Given the description of an element on the screen output the (x, y) to click on. 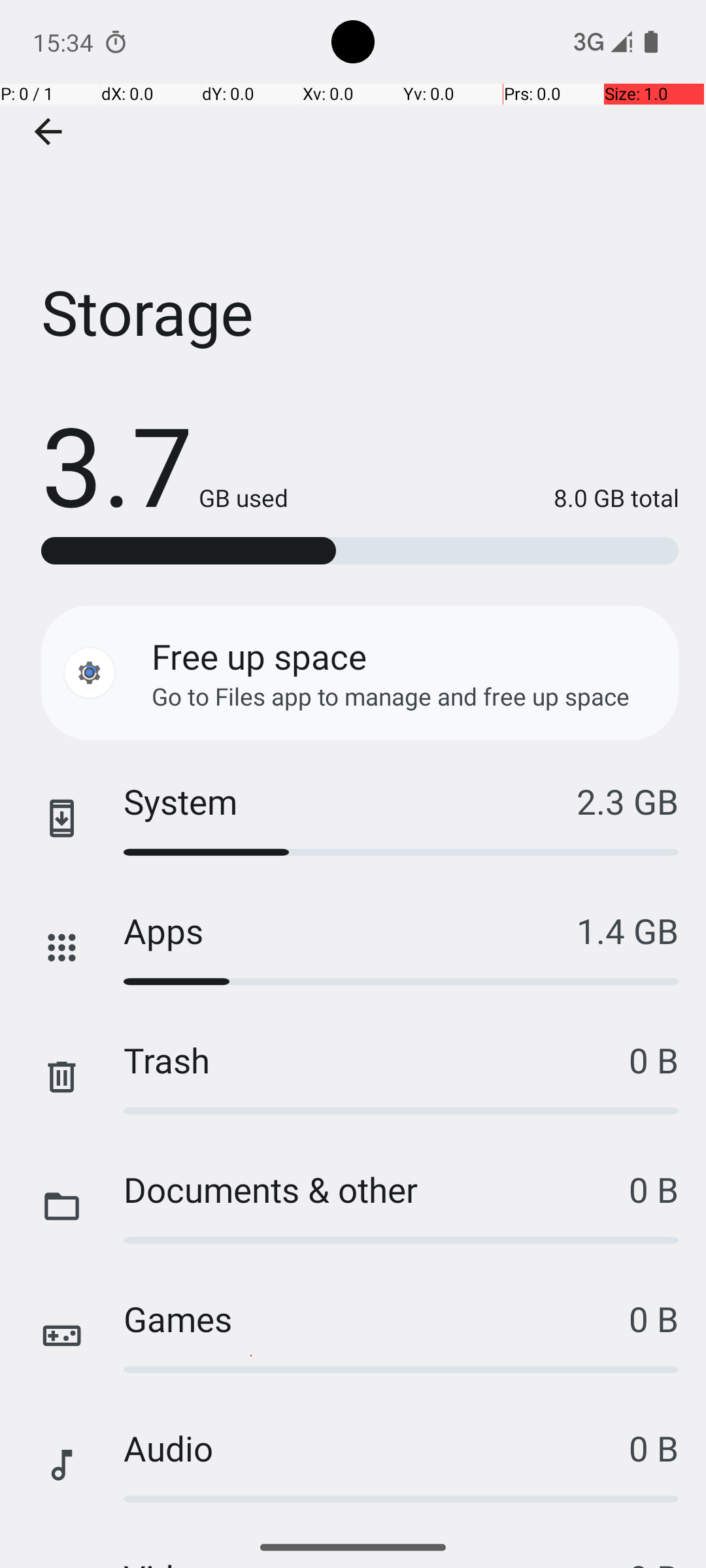
3.7 GB used Element type: android.widget.TextView (164, 463)
